Given the description of an element on the screen output the (x, y) to click on. 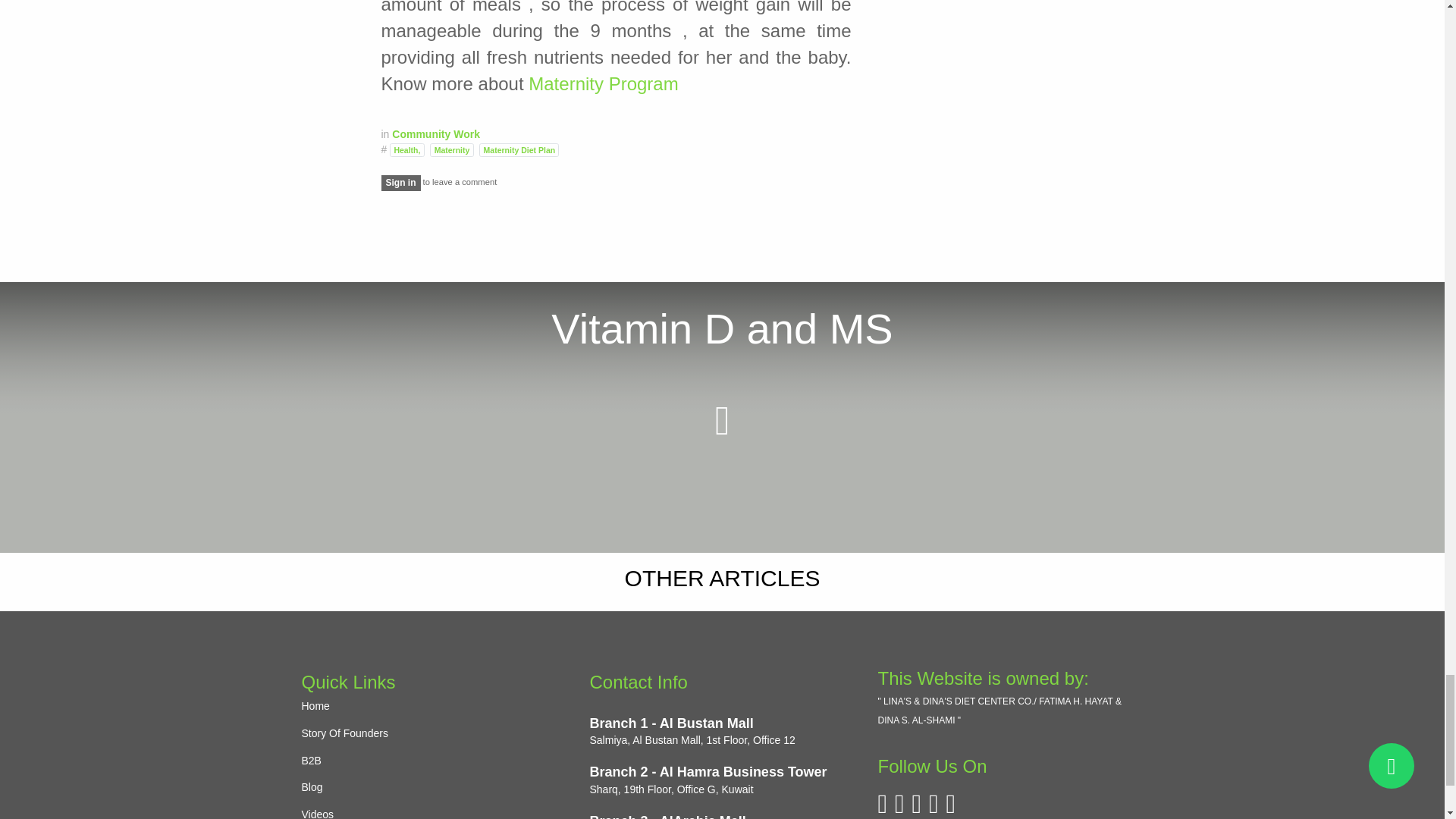
Community Work (435, 133)
Maternity Program (603, 83)
Health, (406, 150)
